Given the description of an element on the screen output the (x, y) to click on. 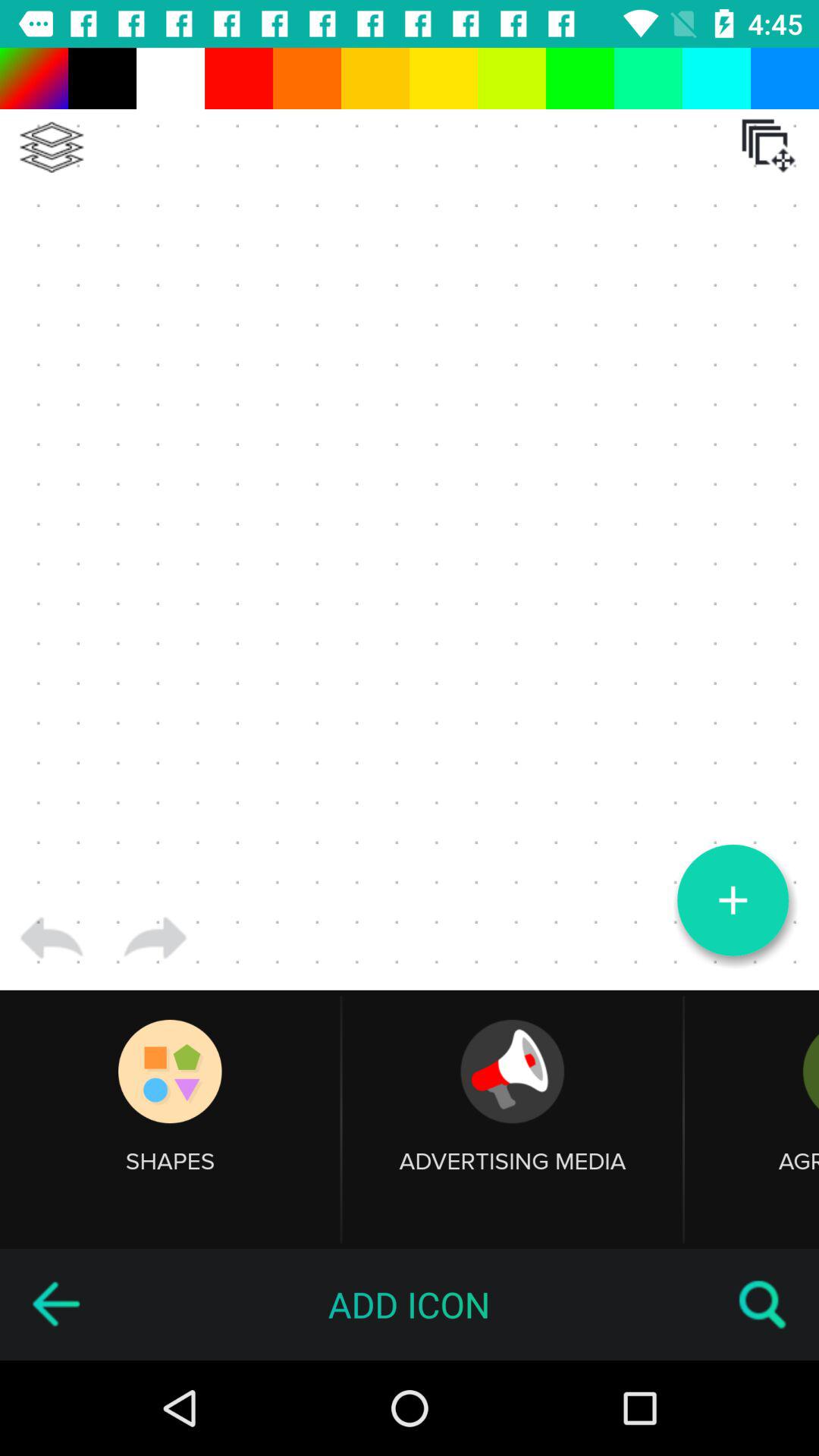
go back (51, 938)
